Given the description of an element on the screen output the (x, y) to click on. 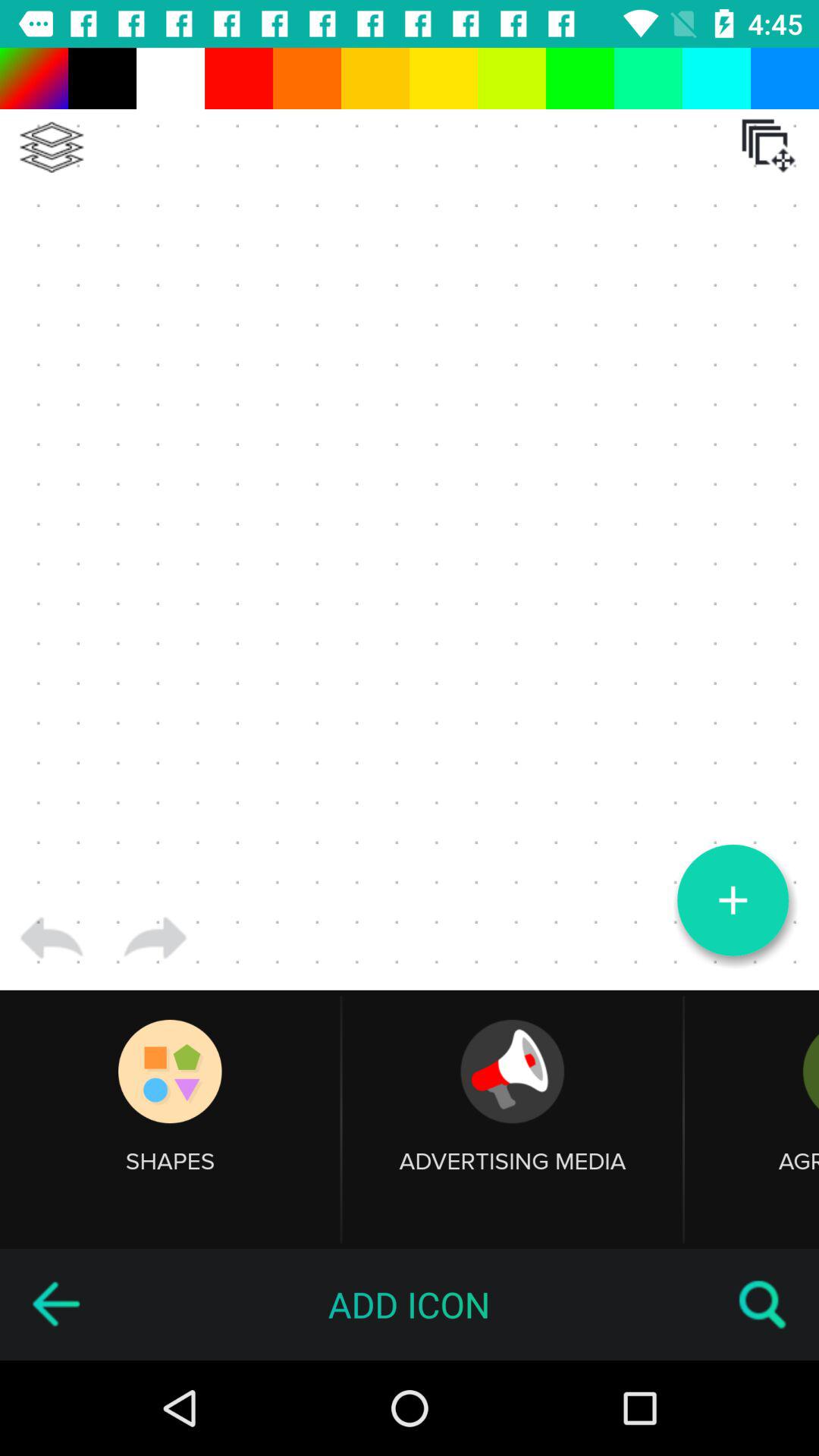
go back (51, 938)
